Given the description of an element on the screen output the (x, y) to click on. 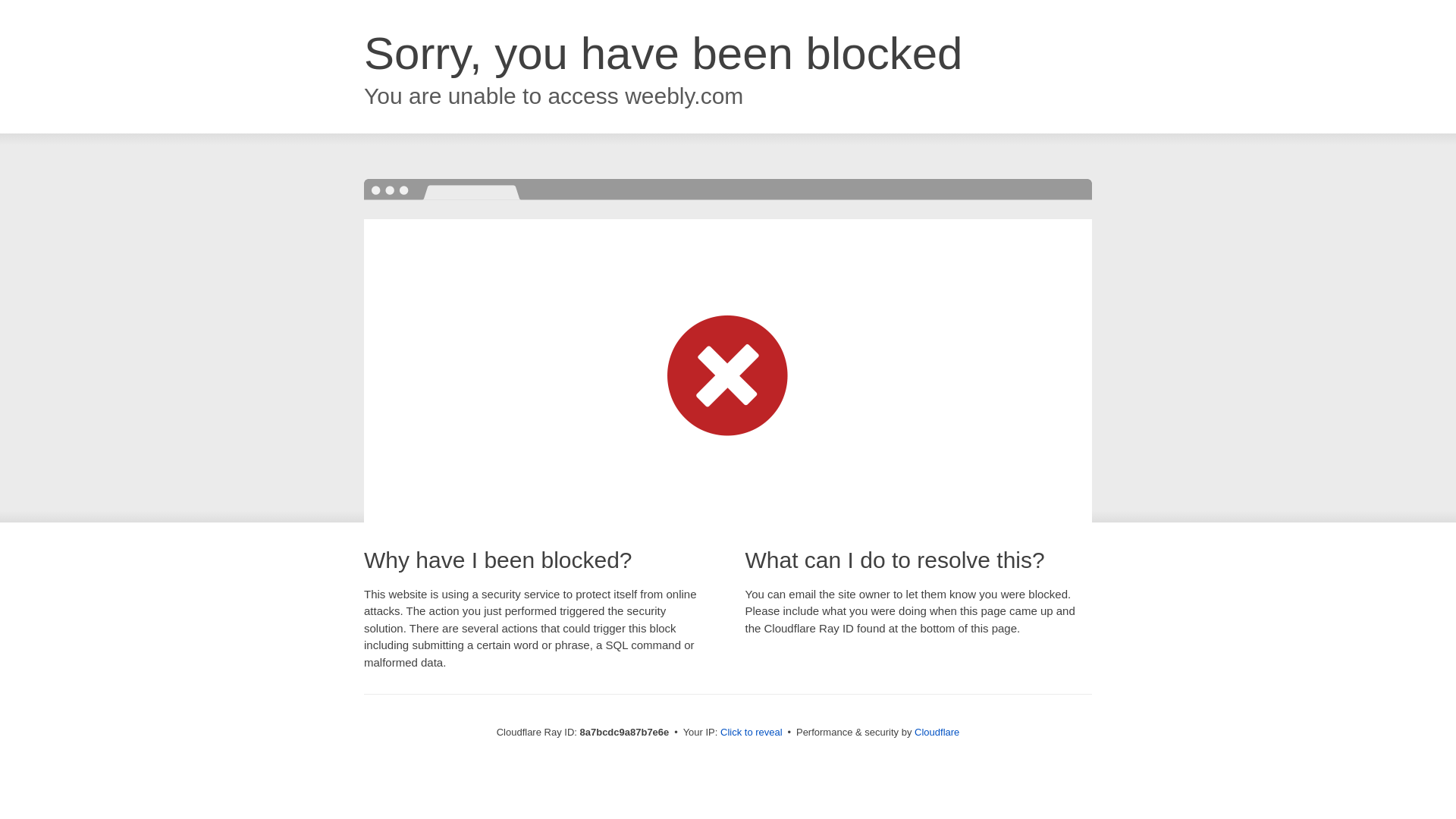
Cloudflare (936, 731)
Click to reveal (751, 732)
